Given the description of an element on the screen output the (x, y) to click on. 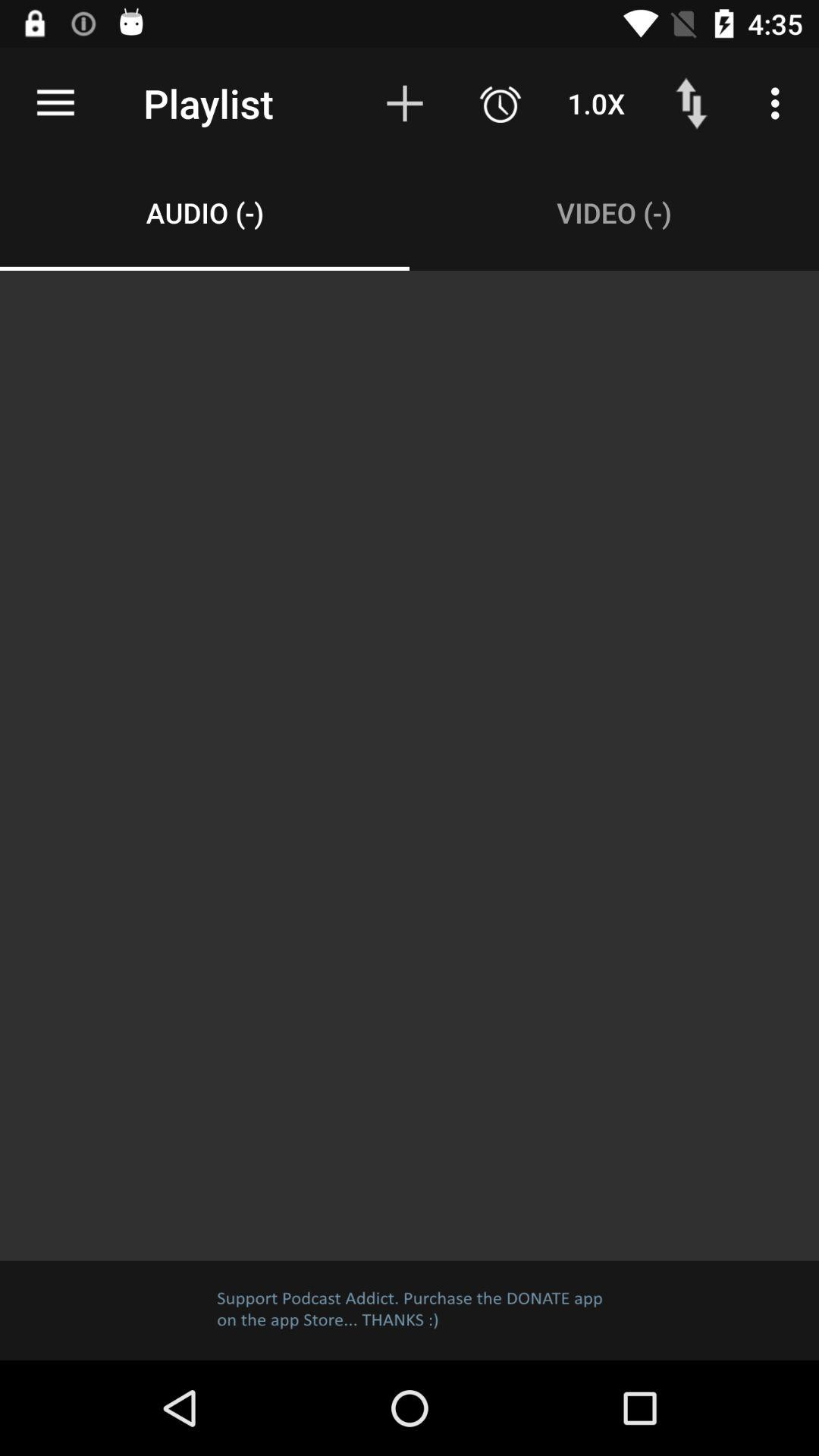
turn off the video (-) item (614, 212)
